Given the description of an element on the screen output the (x, y) to click on. 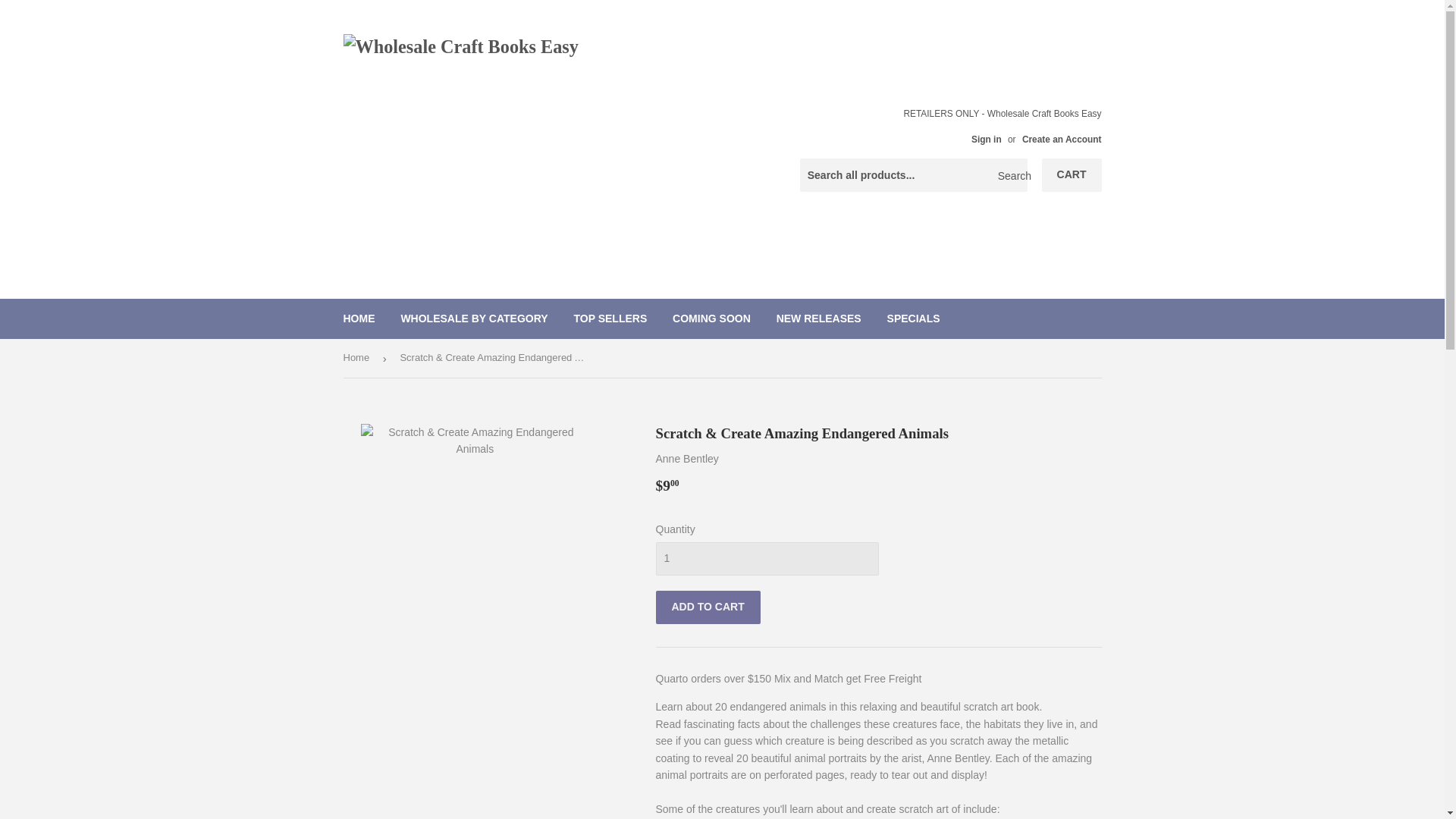
SPECIALS (914, 318)
ADD TO CART (707, 607)
HOME (359, 318)
CART (1072, 174)
TOP SELLERS (610, 318)
NEW RELEASES (818, 318)
WHOLESALE BY CATEGORY (473, 318)
Create an Account (1062, 139)
Search (1009, 175)
COMING SOON (711, 318)
